Given the description of an element on the screen output the (x, y) to click on. 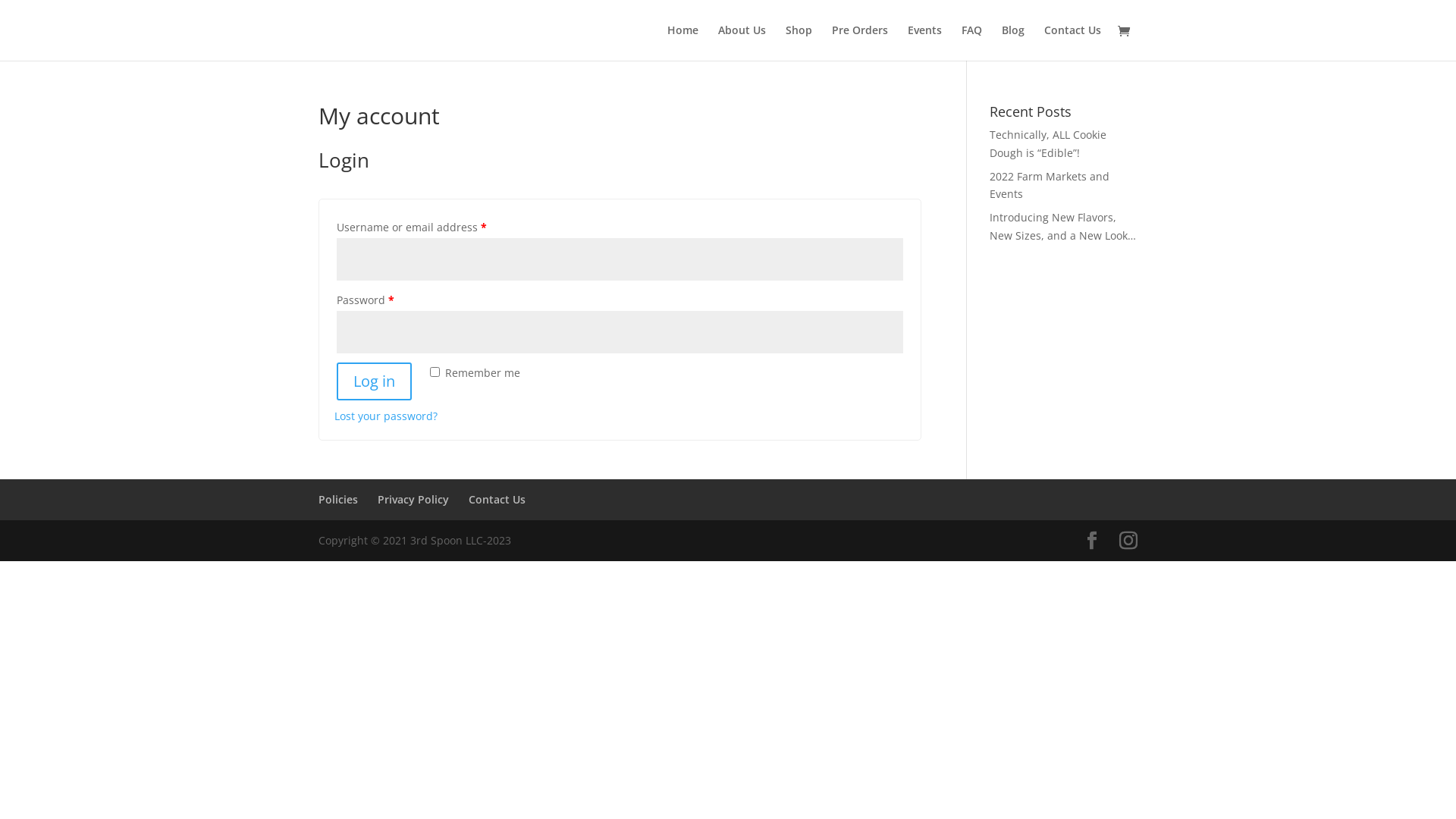
FAQ Element type: text (971, 42)
Privacy Policy Element type: text (412, 499)
Lost your password? Element type: text (385, 415)
Home Element type: text (682, 42)
Log in Element type: text (373, 381)
Blog Element type: text (1012, 42)
Pre Orders Element type: text (859, 42)
Policies Element type: text (337, 499)
Events Element type: text (924, 42)
Contact Us Element type: text (1072, 42)
About Us Element type: text (741, 42)
Shop Element type: text (798, 42)
2022 Farm Markets and Events Element type: text (1049, 185)
Contact Us Element type: text (496, 499)
